Given the description of an element on the screen output the (x, y) to click on. 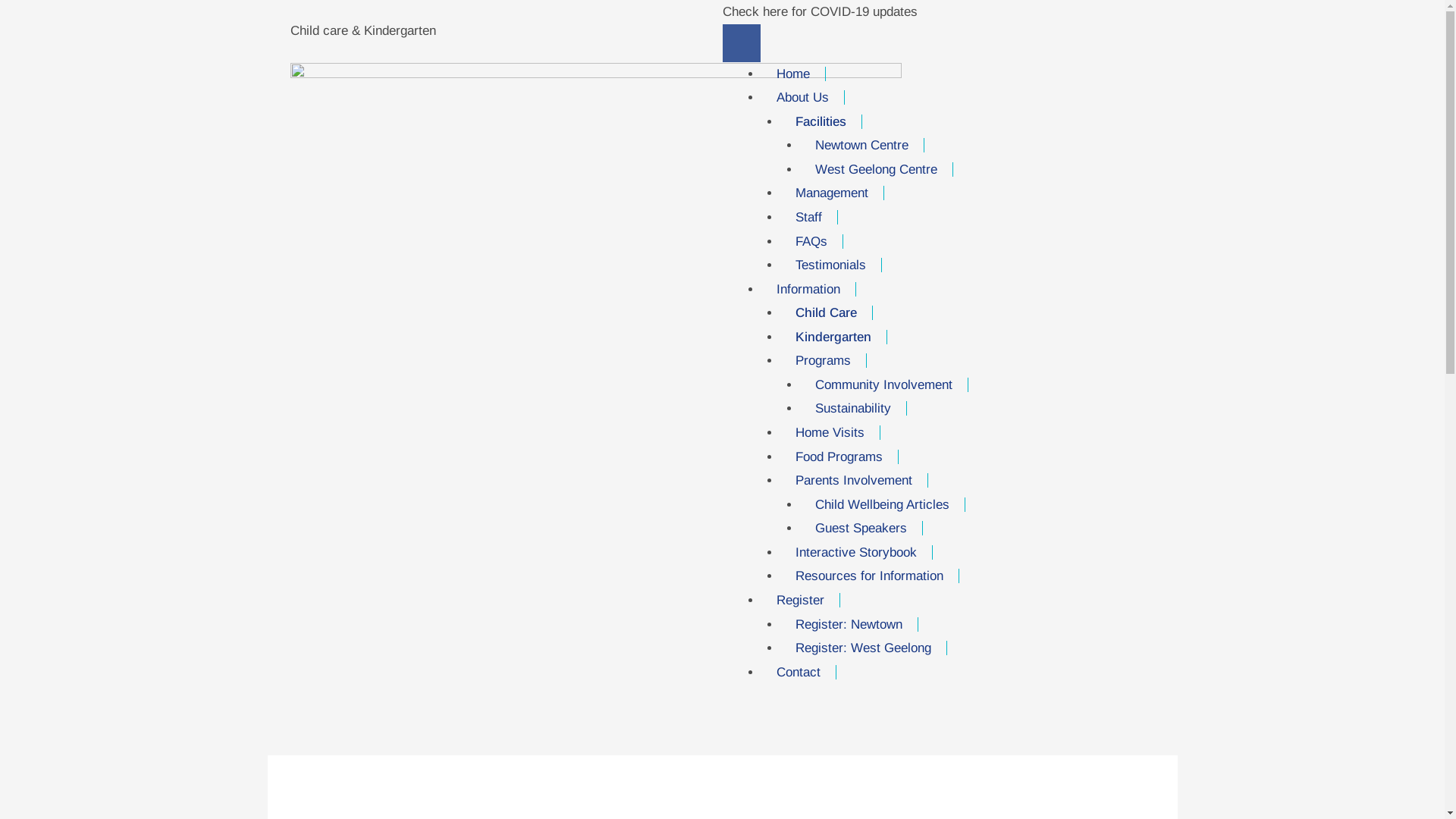
Community Involvement Element type: text (883, 384)
Parents Involvement Element type: text (854, 480)
Food Programs Element type: text (839, 456)
Programs Element type: text (823, 360)
About Us Element type: text (802, 97)
Contact Element type: text (798, 672)
Interactive Storybook Element type: text (856, 552)
Register: West Geelong Element type: text (863, 647)
Home Element type: text (793, 73)
Kindergarten Element type: text (833, 336)
Management Element type: text (832, 192)
Sustainability Element type: text (852, 408)
West Geelong Centre Element type: text (875, 169)
Staff Element type: text (808, 217)
Resources for Information Element type: text (869, 575)
FAQs Element type: text (811, 240)
Child Wellbeing Articles Element type: text (881, 504)
Register: Newtown Element type: text (849, 624)
Newtown Centre Element type: text (861, 145)
Guest Speakers Element type: text (860, 527)
Testimonials Element type: text (830, 264)
Home Visits Element type: text (830, 432)
Facilities Element type: text (821, 121)
Register Element type: text (800, 600)
Information Element type: text (808, 289)
Child Care Element type: text (826, 312)
